Given the description of an element on the screen output the (x, y) to click on. 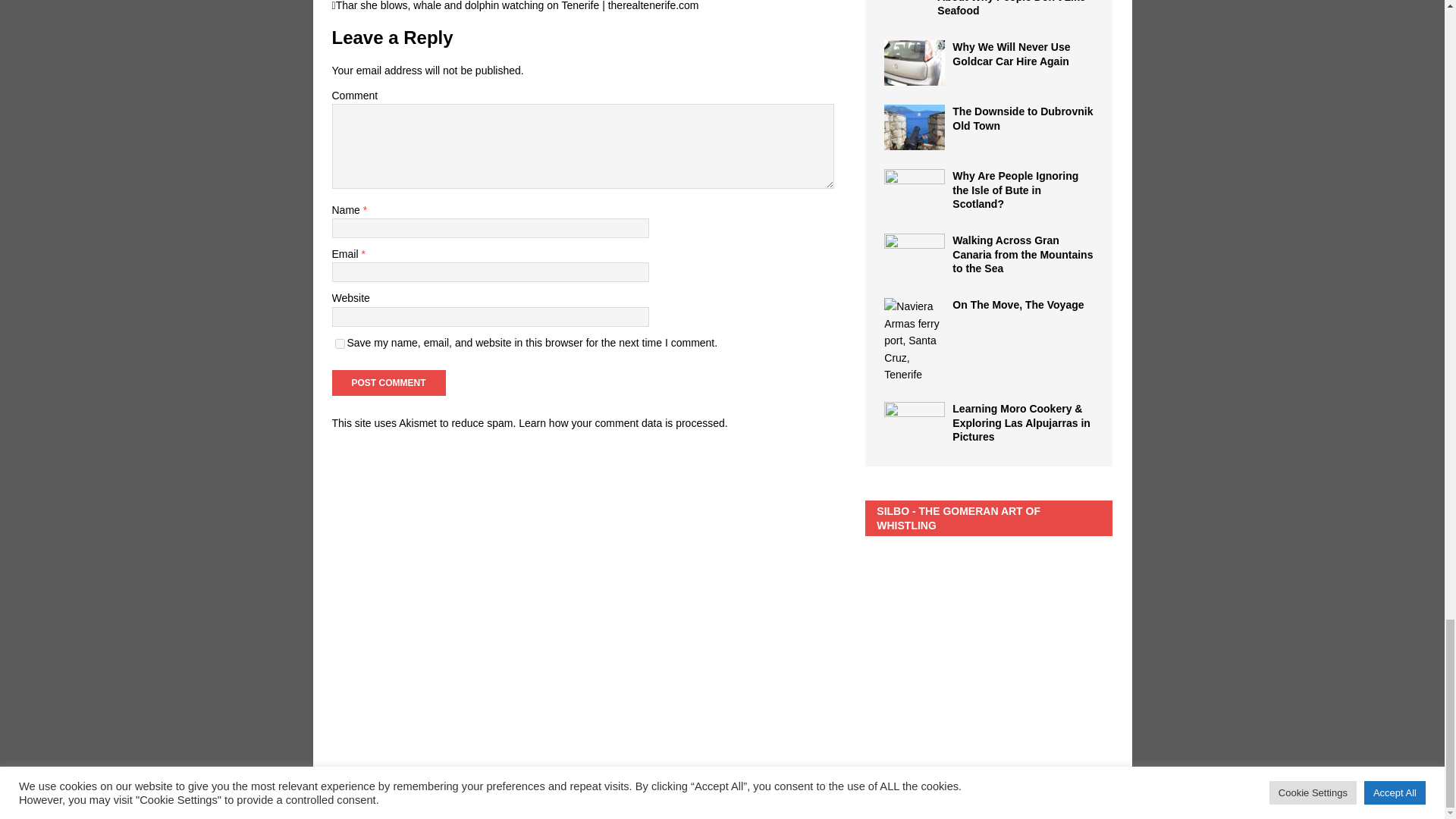
Post Comment (388, 382)
yes (339, 343)
